Given the description of an element on the screen output the (x, y) to click on. 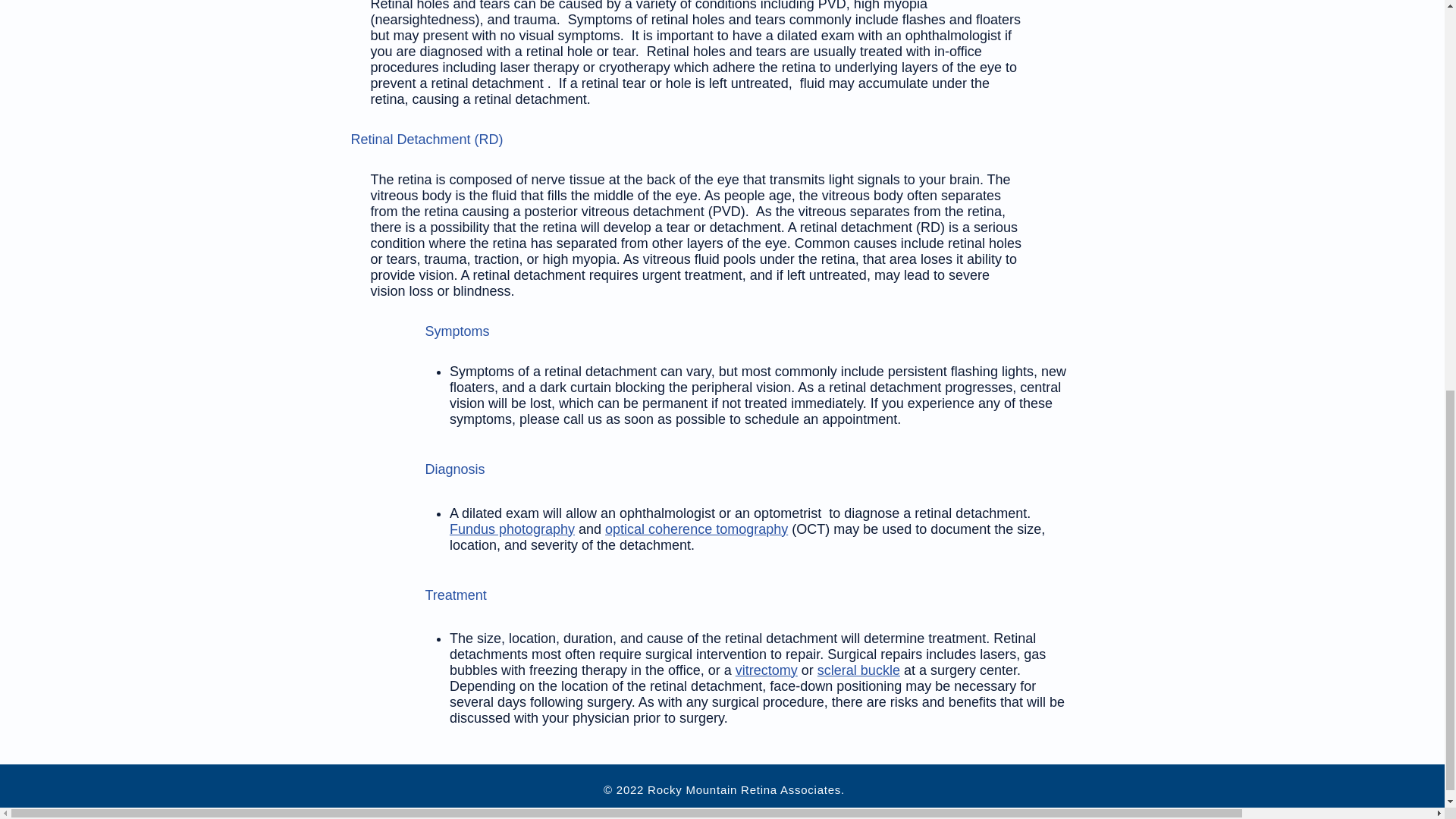
Fundus photography (512, 529)
scleral buckle (857, 670)
vitrectomy (766, 670)
optical coherence tomography (696, 529)
